Given the description of an element on the screen output the (x, y) to click on. 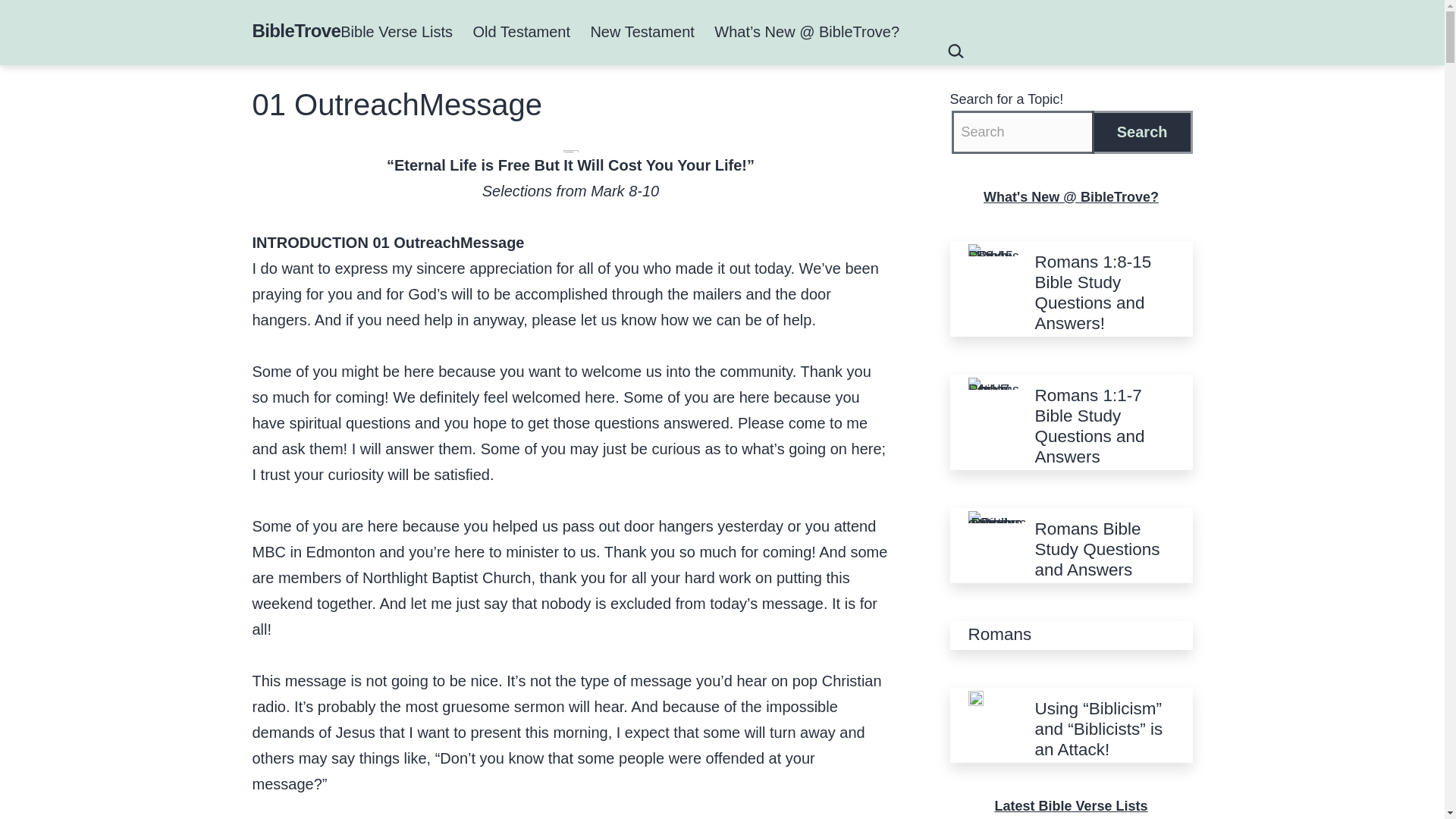
Romans 1:1-7 Bible Study Questions and Answers (1103, 425)
Search (1142, 131)
Romans 1:8-15 Bible Study Questions and Answers! (1103, 292)
BibleTrove (295, 30)
New Testament (641, 31)
Bible Verse Lists (396, 31)
Romans (999, 634)
Romans Bible Study Questions and Answers (1103, 548)
Old Testament (521, 31)
